Given the description of an element on the screen output the (x, y) to click on. 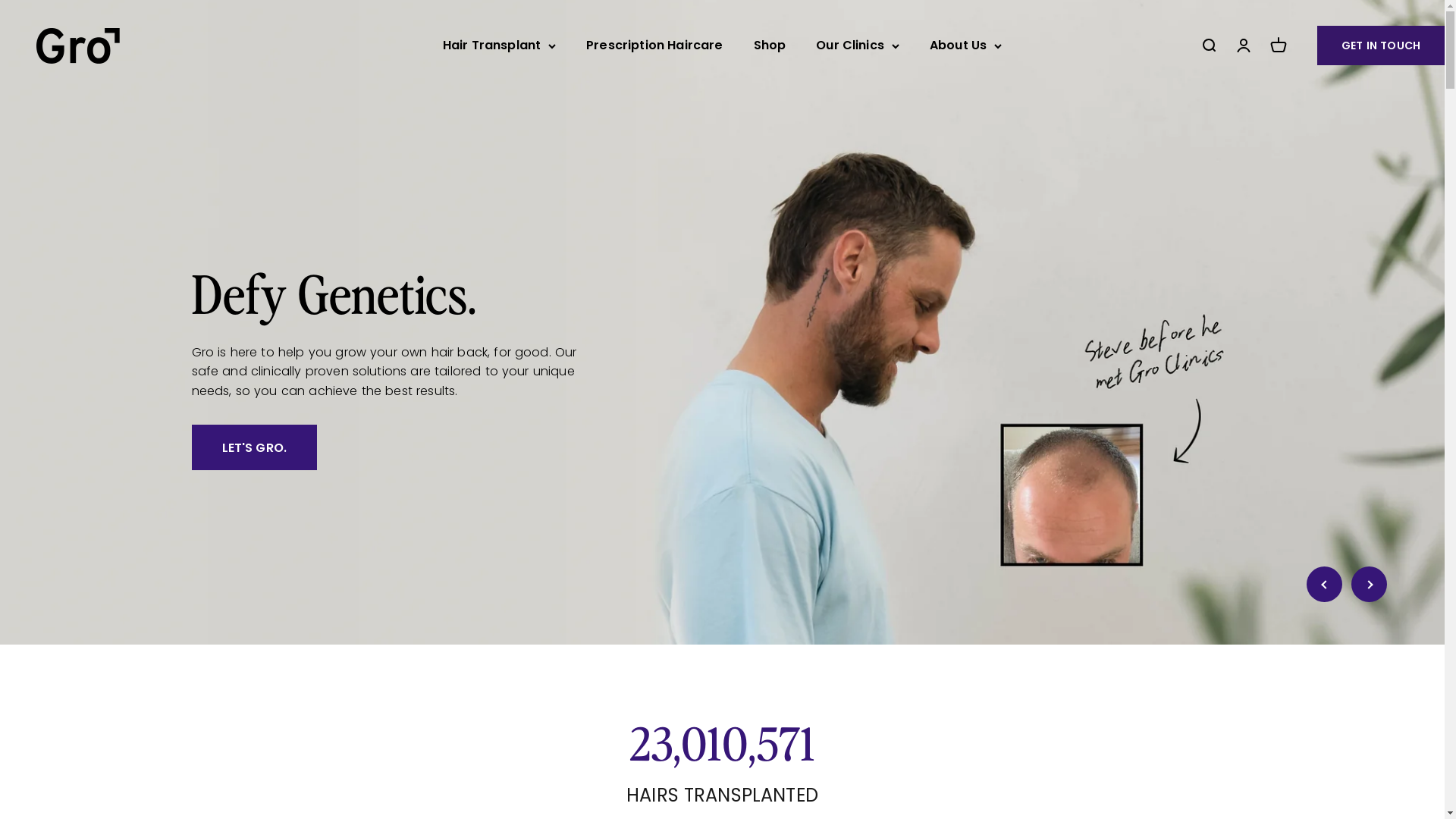
Prescription Haircare Element type: text (654, 44)
Open cart
0 Element type: text (1278, 45)
Open search Element type: text (1208, 45)
Previous Element type: text (1324, 584)
Open account page Element type: text (1243, 45)
Shop Element type: text (769, 44)
GET IN TOUCH Element type: text (1380, 45)
LET'S GRO. Element type: text (253, 453)
Gro Clinics Element type: text (77, 44)
Next Element type: text (1368, 584)
